Given the description of an element on the screen output the (x, y) to click on. 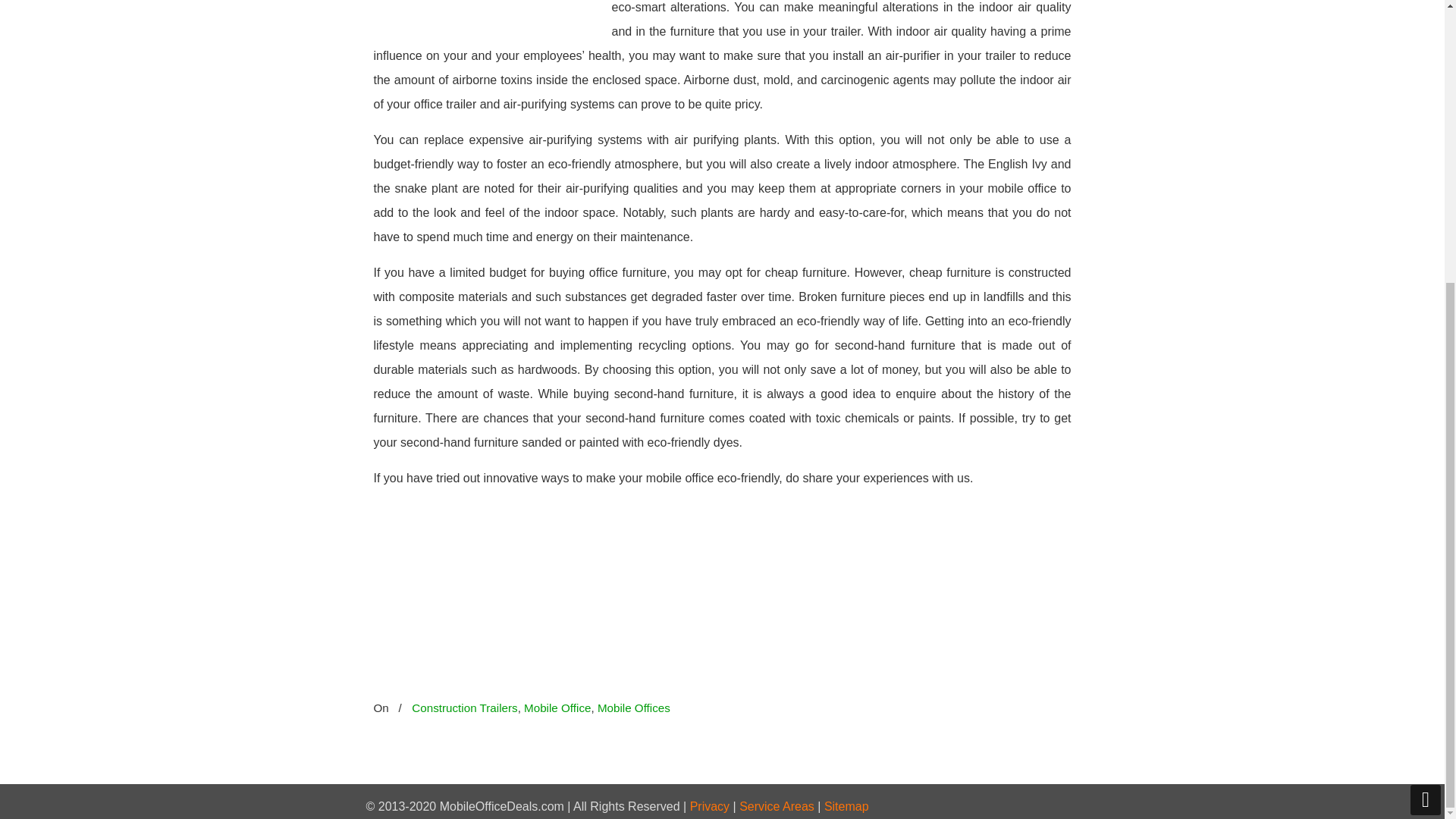
Privacy Policy (709, 806)
Service Areas (776, 806)
Mobile Offices (632, 707)
Mobile Office (557, 707)
Privacy (709, 806)
Sitemap (846, 806)
Construction Trailers (464, 707)
Service Areas (776, 806)
Sitemap (846, 806)
